Given the description of an element on the screen output the (x, y) to click on. 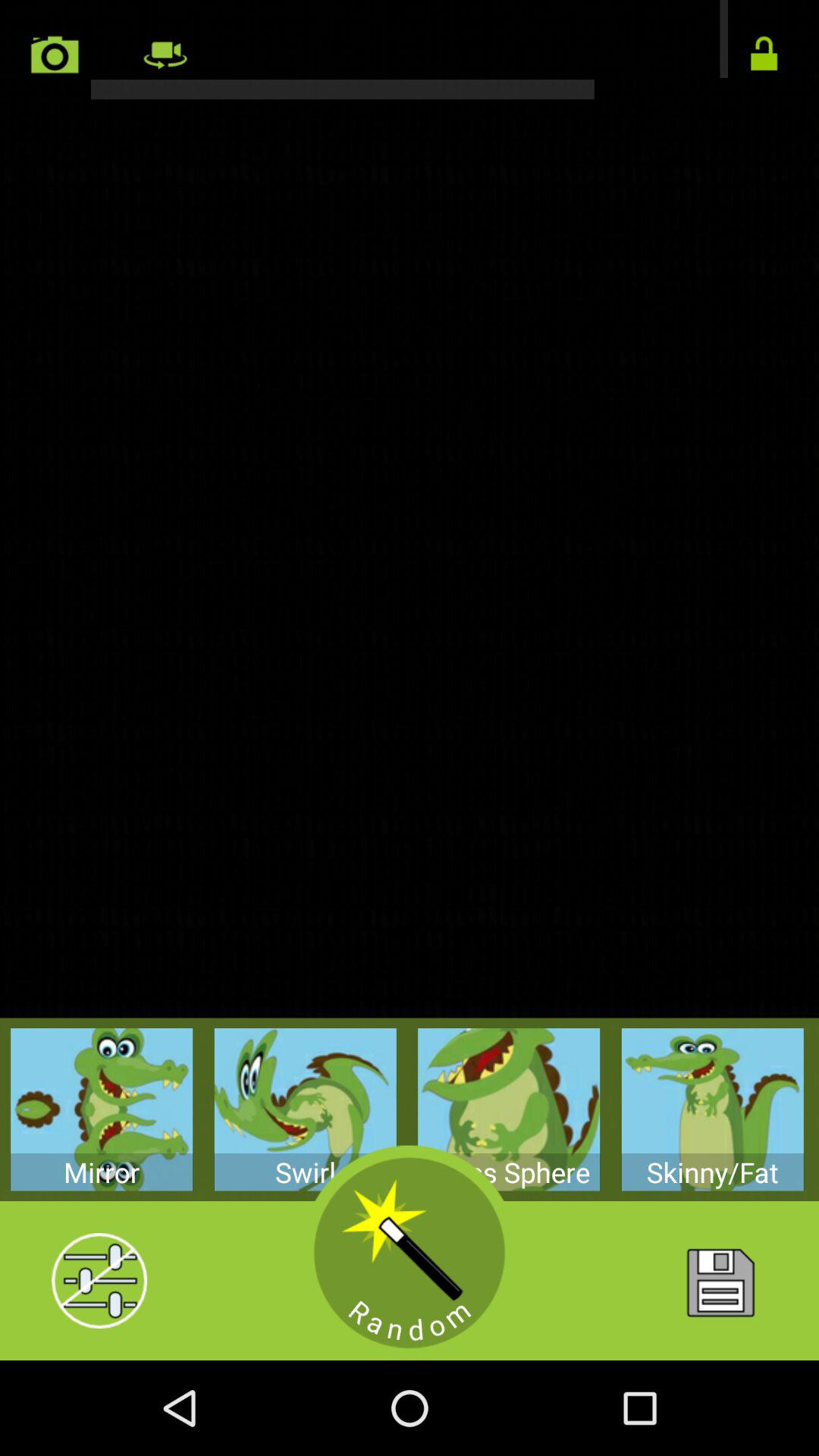
click to save (719, 1280)
